Given the description of an element on the screen output the (x, y) to click on. 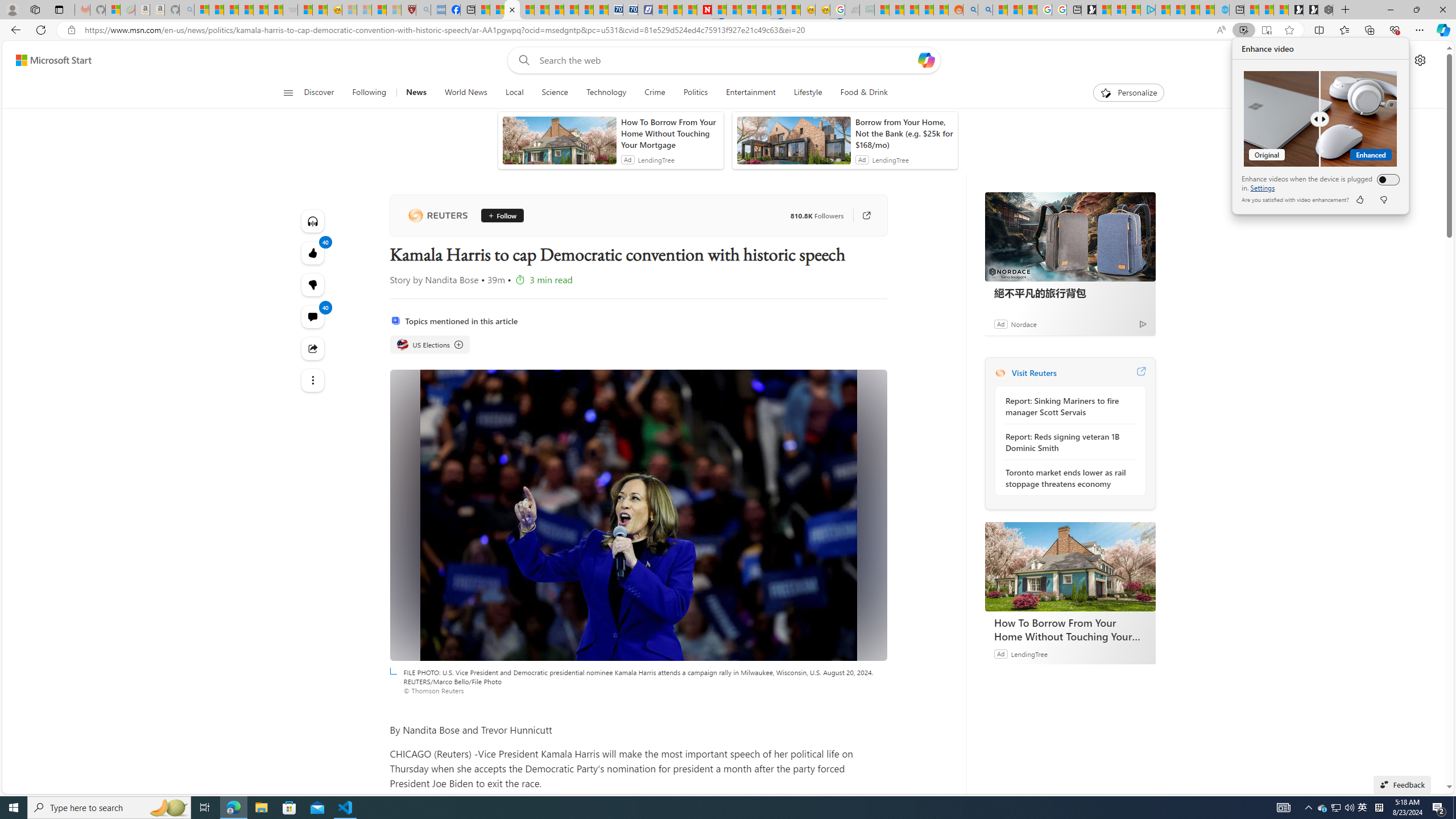
Type here to search (108, 807)
Task View (204, 807)
AutomationID: 4105 (1283, 807)
Comparision (1319, 118)
Report: Sinking Mariners to fire manager Scott Servais (1066, 406)
Search highlights icon opens search home window (167, 807)
